Given the description of an element on the screen output the (x, y) to click on. 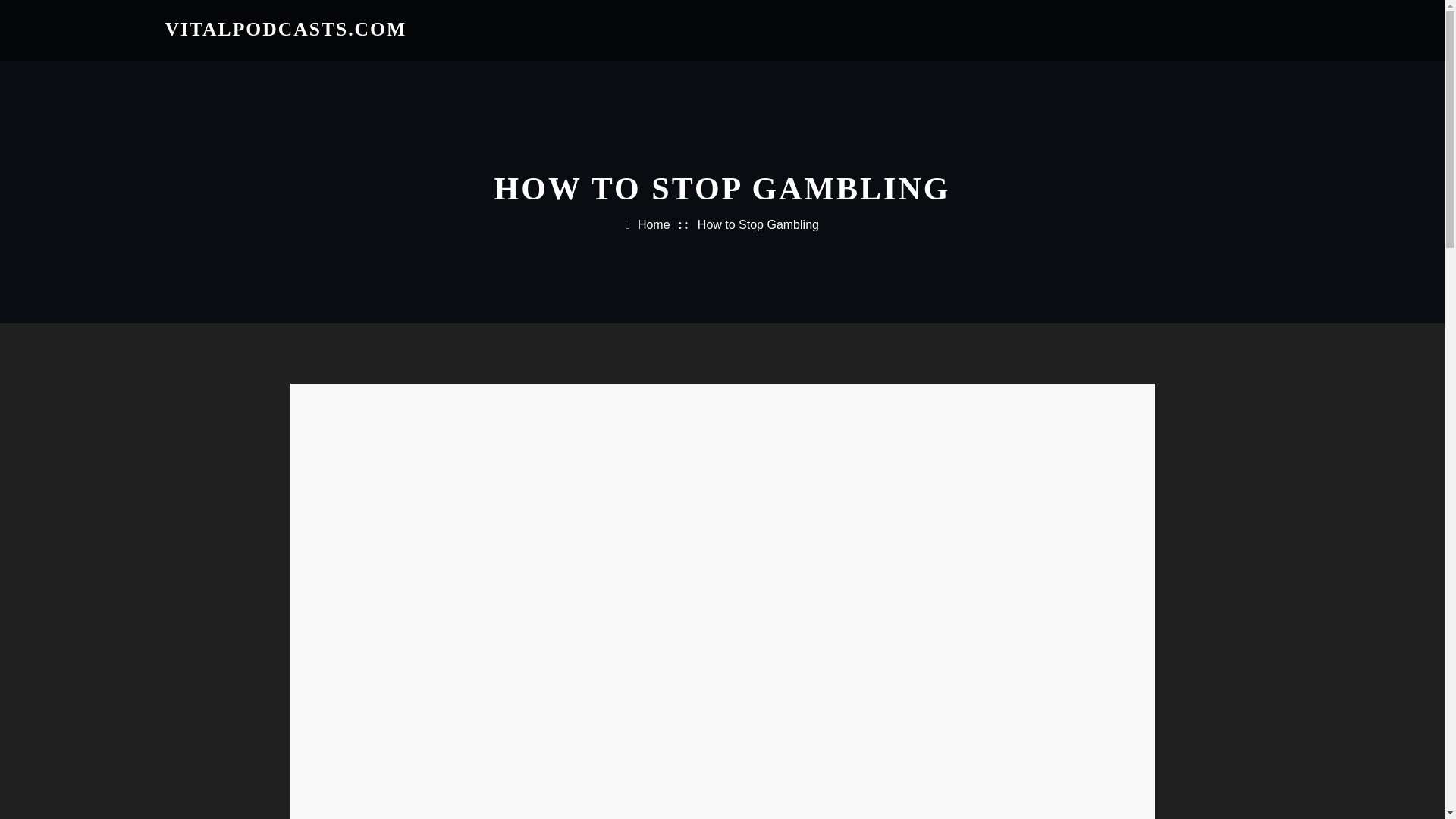
How to Stop Gambling (757, 224)
Gambling (345, 412)
by admin (346, 502)
April 28, 2022 (439, 502)
Home (653, 224)
VITALPODCASTS.COM (286, 29)
